Given the description of an element on the screen output the (x, y) to click on. 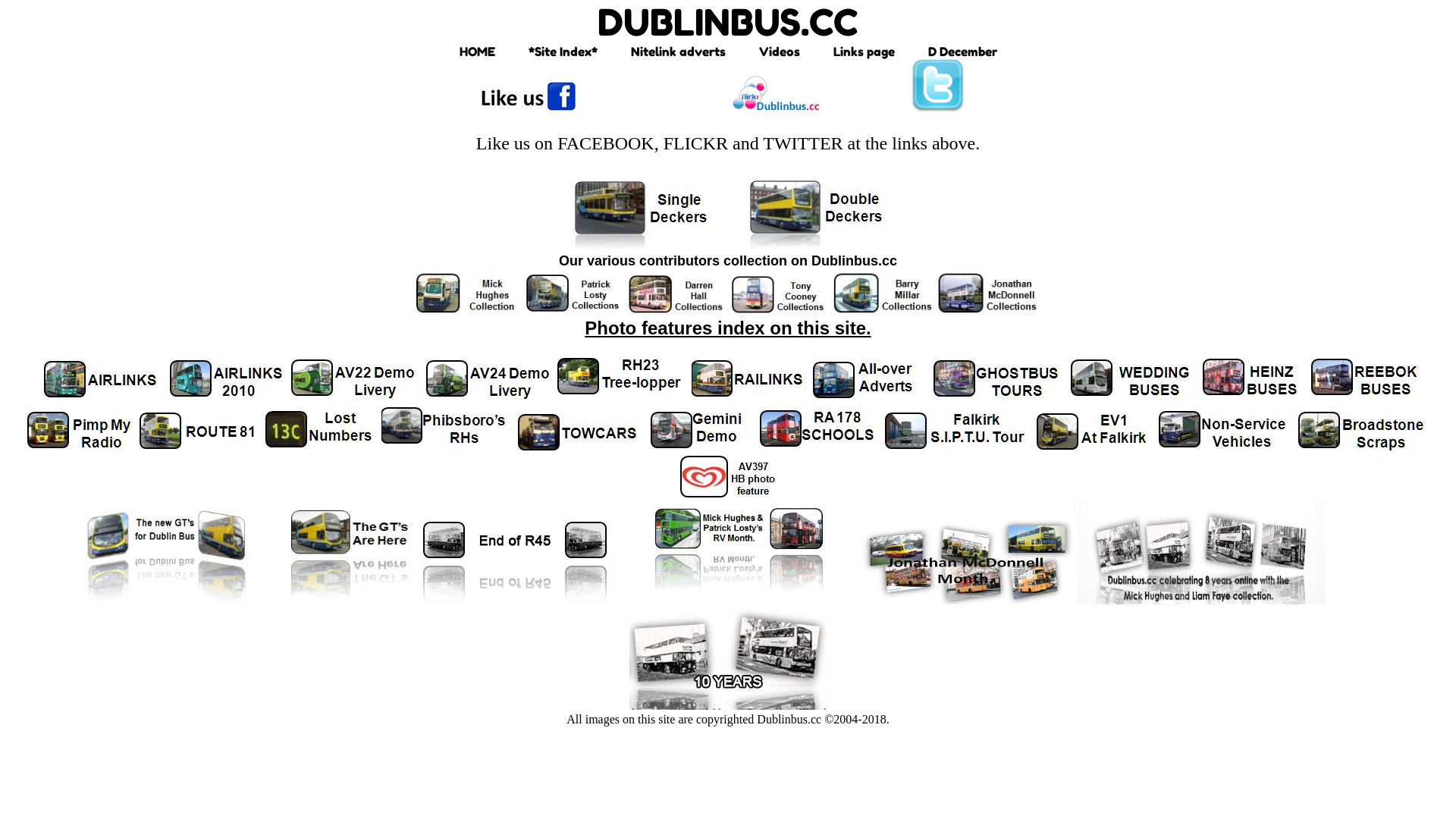
D December Element type: text (962, 51)
Nitelink adverts Element type: text (678, 51)
Videos Element type: text (778, 51)
Links page Element type: text (863, 51)
*Site Index* Element type: text (562, 51)
HOME Element type: text (476, 51)
